Given the description of an element on the screen output the (x, y) to click on. 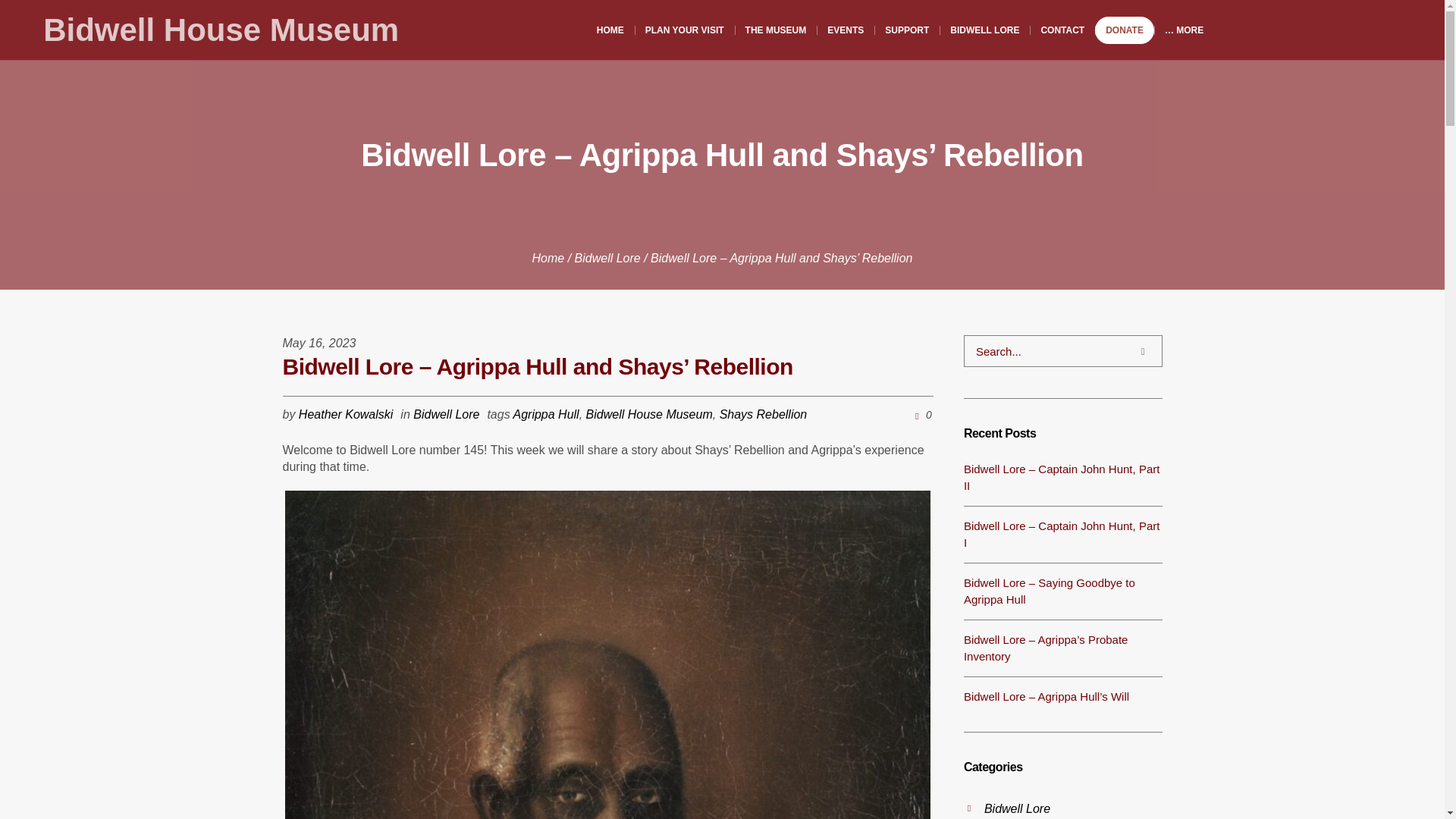
Posts by Heather Kowalski (345, 413)
SUPPORT (907, 29)
Bidwell Lore (446, 413)
Bidwell House Museum (220, 29)
THE MUSEUM (775, 29)
May 16, 2023 (318, 343)
Heather Kowalski (345, 413)
PLAN YOUR VISIT (684, 29)
Home (548, 257)
BIDWELL LORE (984, 29)
Bidwell House Museum (220, 29)
CONTACT (1061, 29)
EVENTS (845, 29)
DONATE (1124, 29)
Bidwell Lore (607, 257)
